Given the description of an element on the screen output the (x, y) to click on. 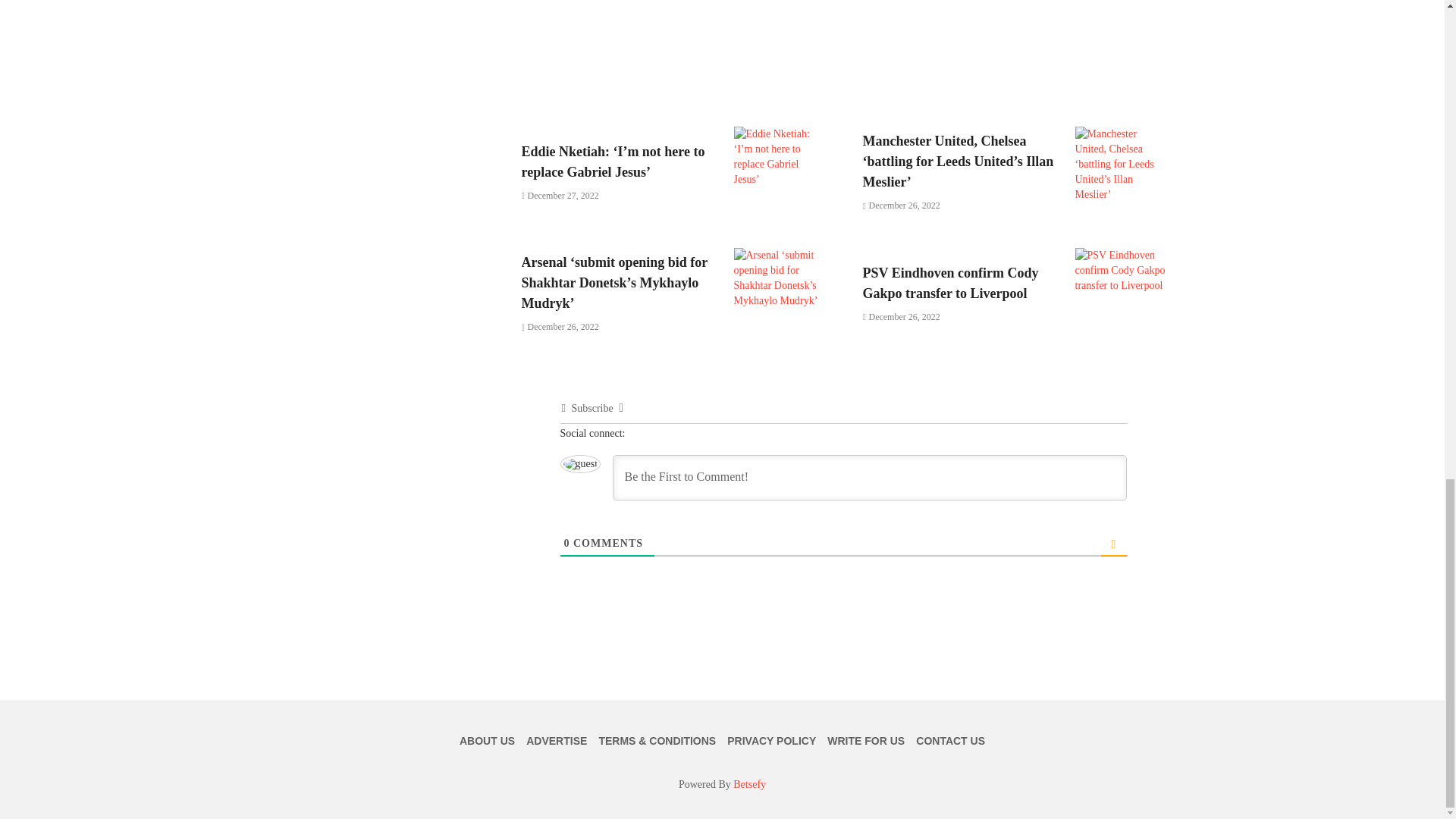
PSV Eindhoven confirm Cody Gakpo transfer to Liverpool (960, 282)
